Given the description of an element on the screen output the (x, y) to click on. 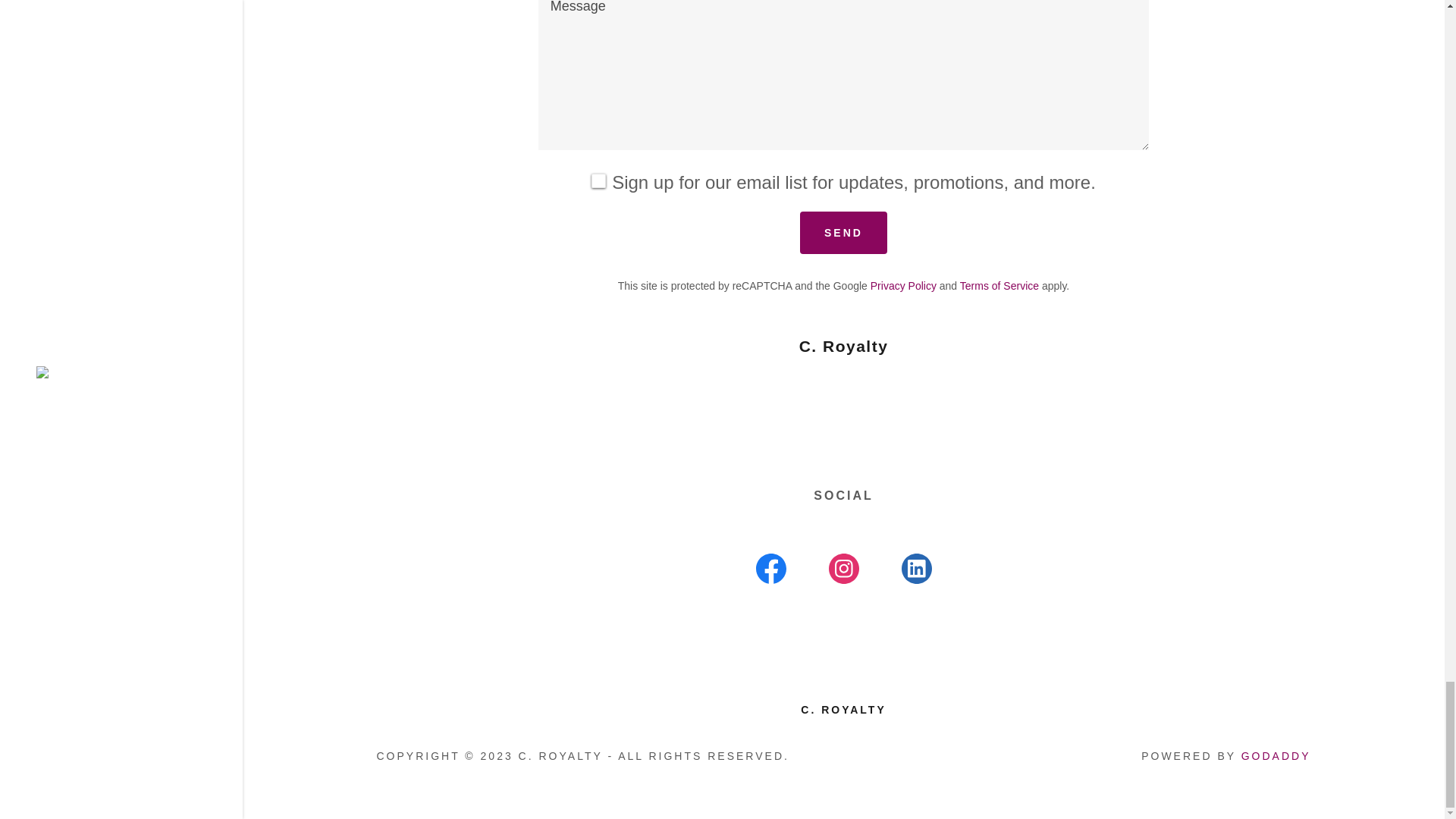
Privacy Policy (903, 285)
Terms of Service (999, 285)
GODADDY (1276, 756)
SEND (842, 231)
